Given the description of an element on the screen output the (x, y) to click on. 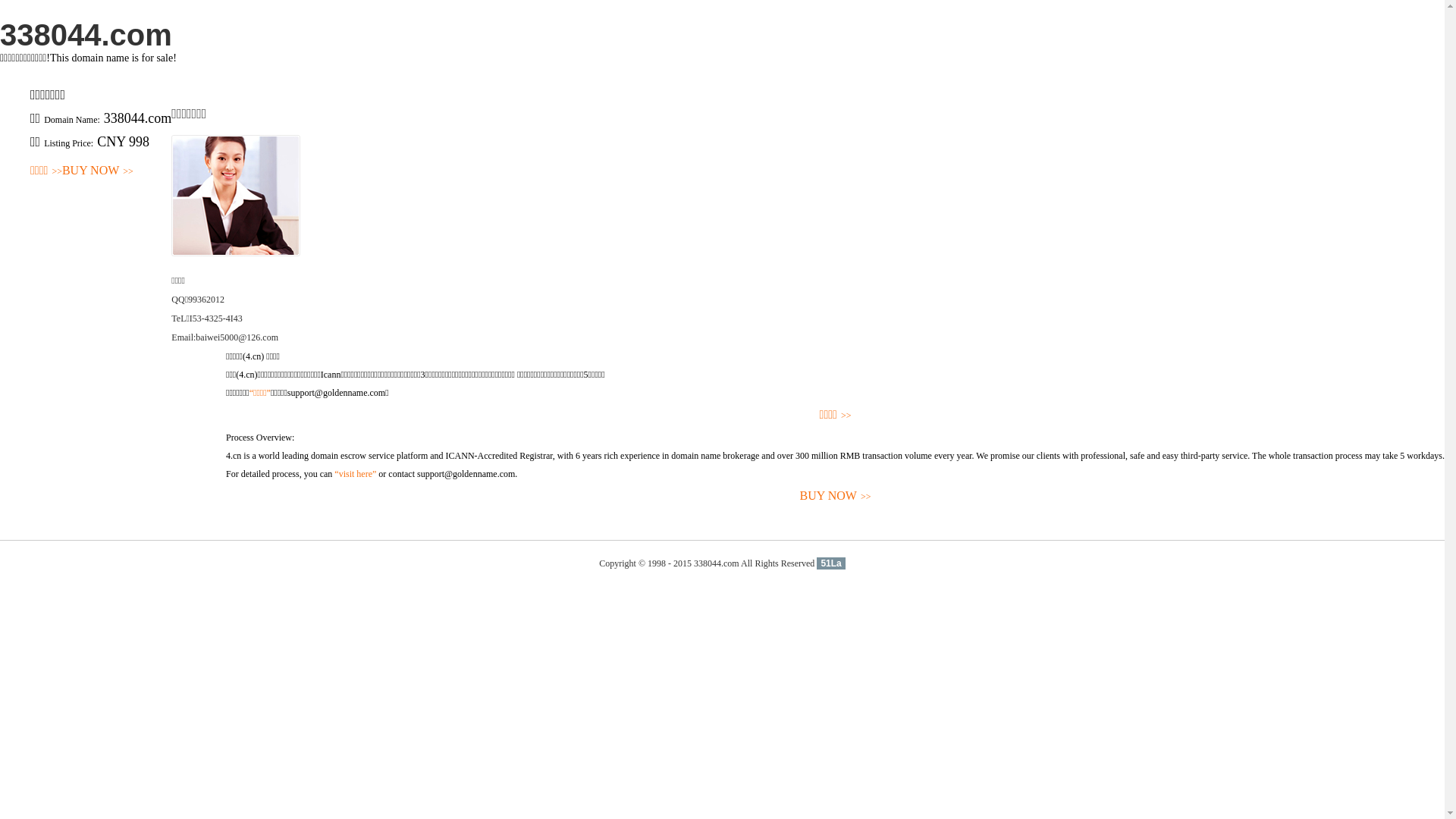
51La Element type: text (830, 563)
BUY NOW>> Element type: text (834, 496)
BUY NOW>> Element type: text (97, 170)
